Given the description of an element on the screen output the (x, y) to click on. 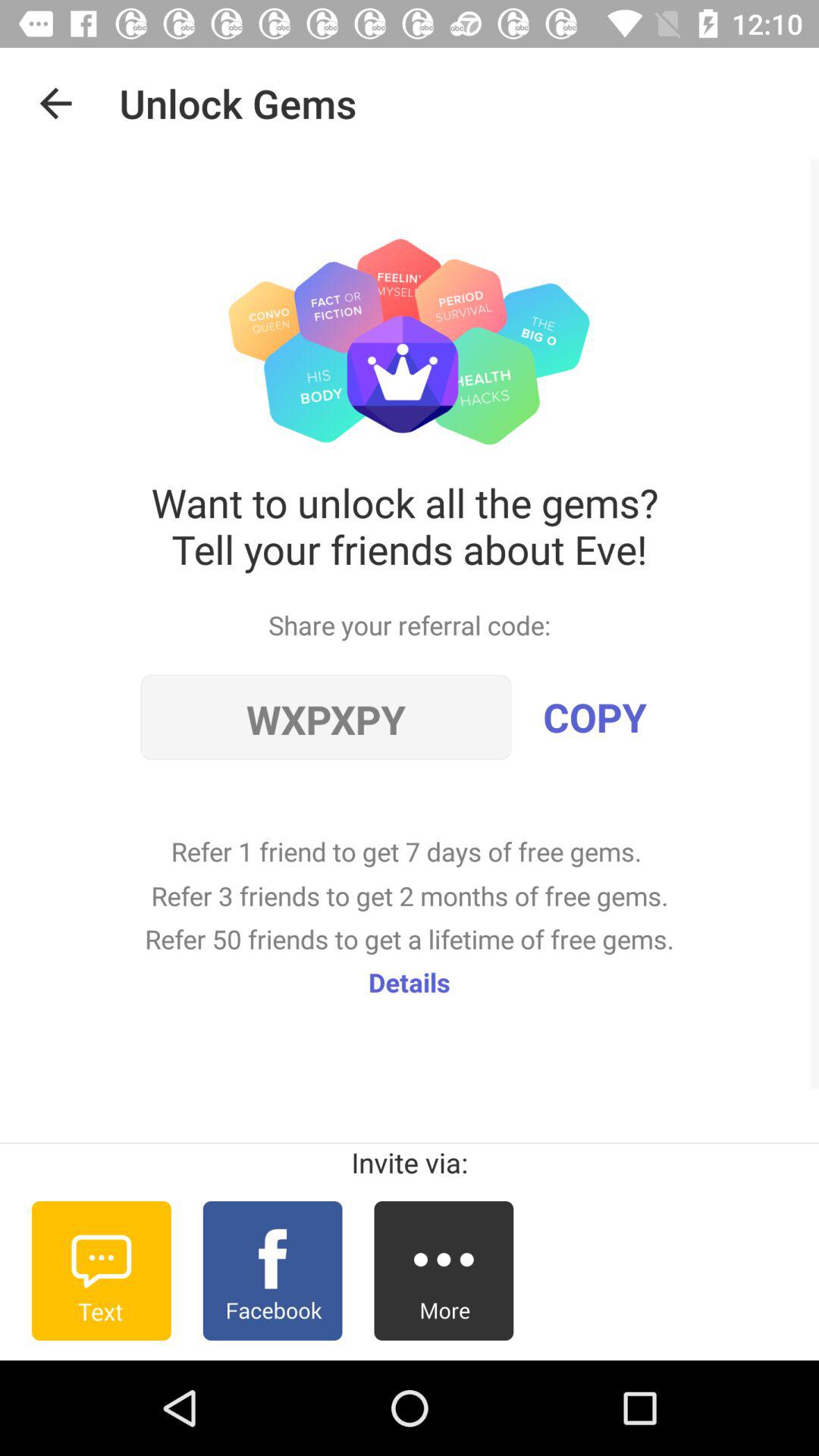
open item to the left of the unlock gems (55, 103)
